Given the description of an element on the screen output the (x, y) to click on. 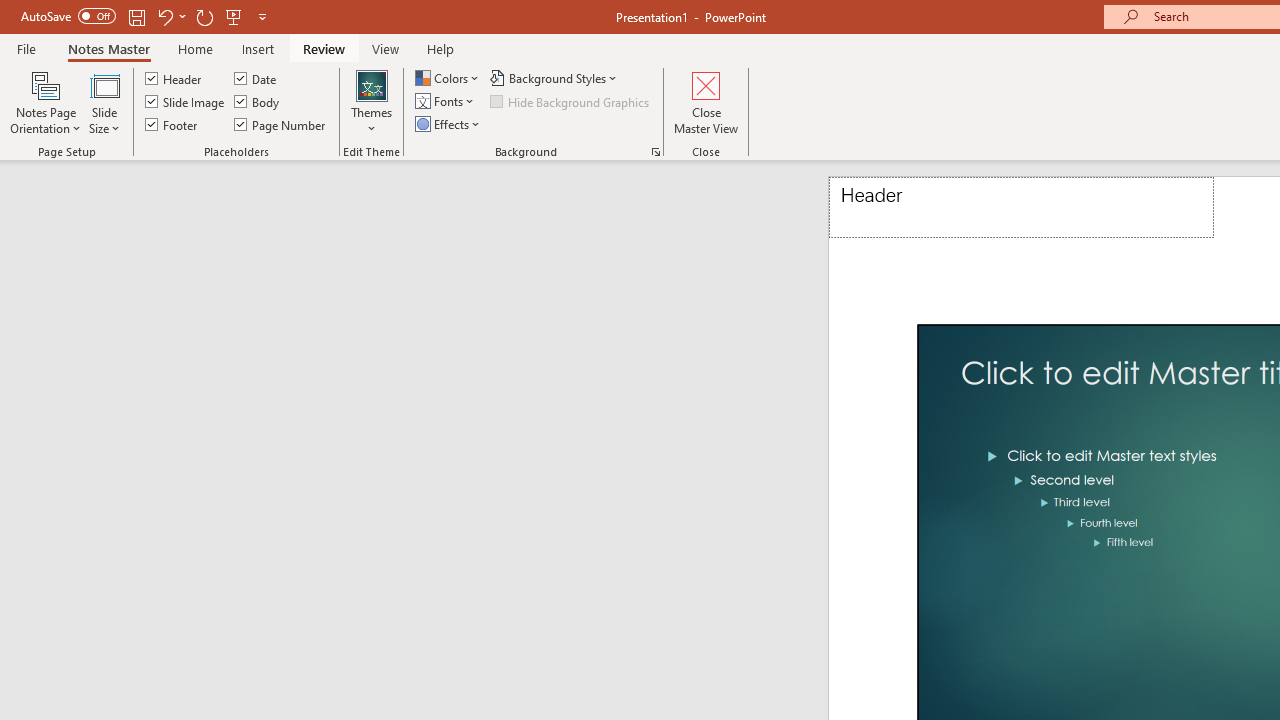
Body (257, 101)
Date (256, 78)
Header (174, 78)
Close Master View (706, 102)
Header (1021, 207)
